Given the description of an element on the screen output the (x, y) to click on. 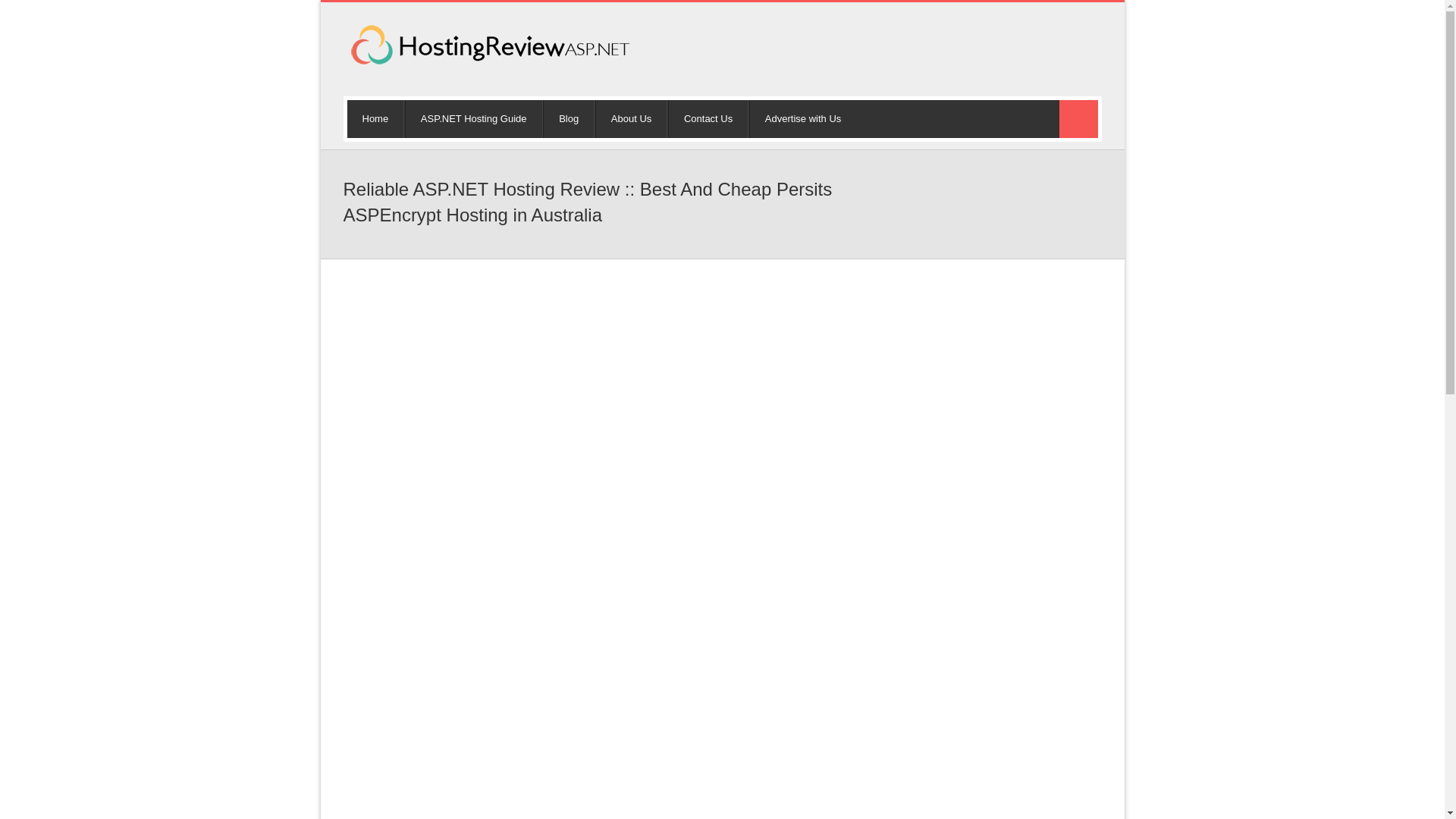
Blog (568, 118)
Home (375, 118)
Contact Us (708, 118)
ASP.NET Hosting Guide (473, 118)
Advertise with Us (802, 118)
About Us (630, 118)
